Given the description of an element on the screen output the (x, y) to click on. 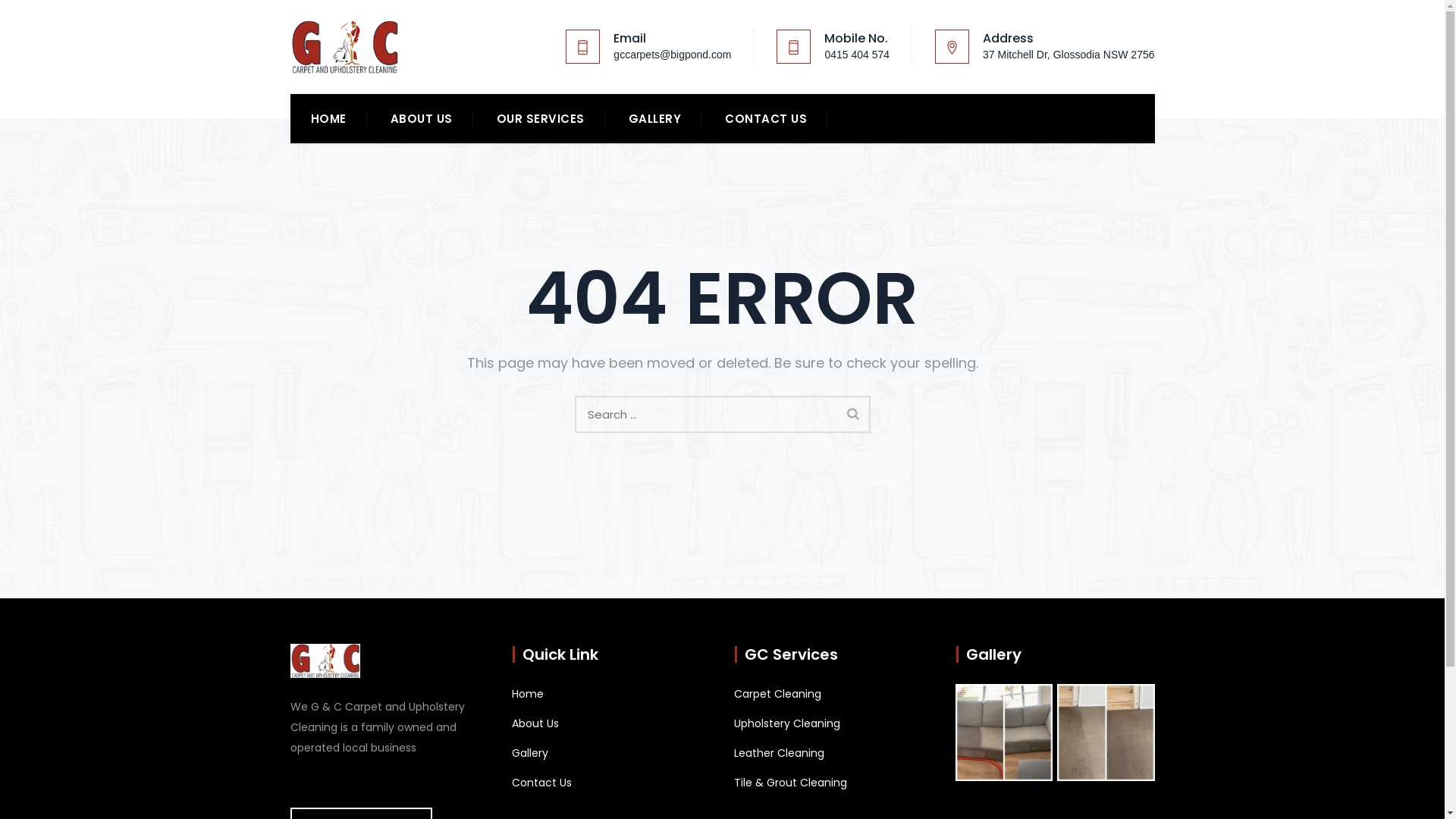
ABOUT US Element type: text (420, 118)
gccarpets@bigpond.com Element type: text (672, 54)
Mobile No. Element type: text (856, 38)
HOME Element type: text (328, 118)
GALLERY Element type: text (653, 118)
Contact Us Element type: text (541, 782)
Home Element type: text (527, 694)
Leather Cleaning Element type: text (779, 753)
Upholstery Cleaning Element type: text (787, 723)
Geat a Quote Element type: text (1090, 117)
About Us Element type: text (534, 723)
Search Element type: text (852, 412)
CONTACT US Element type: text (765, 118)
OUR SERVICES Element type: text (539, 118)
Gallery Element type: text (529, 753)
37 Mitchell Dr, Glossodia NSW 2756 Element type: text (1068, 54)
0415 404 574 Element type: text (856, 54)
Carpet Cleaning Element type: text (777, 694)
Tile & Grout Cleaning Element type: text (790, 782)
